Given the description of an element on the screen output the (x, y) to click on. 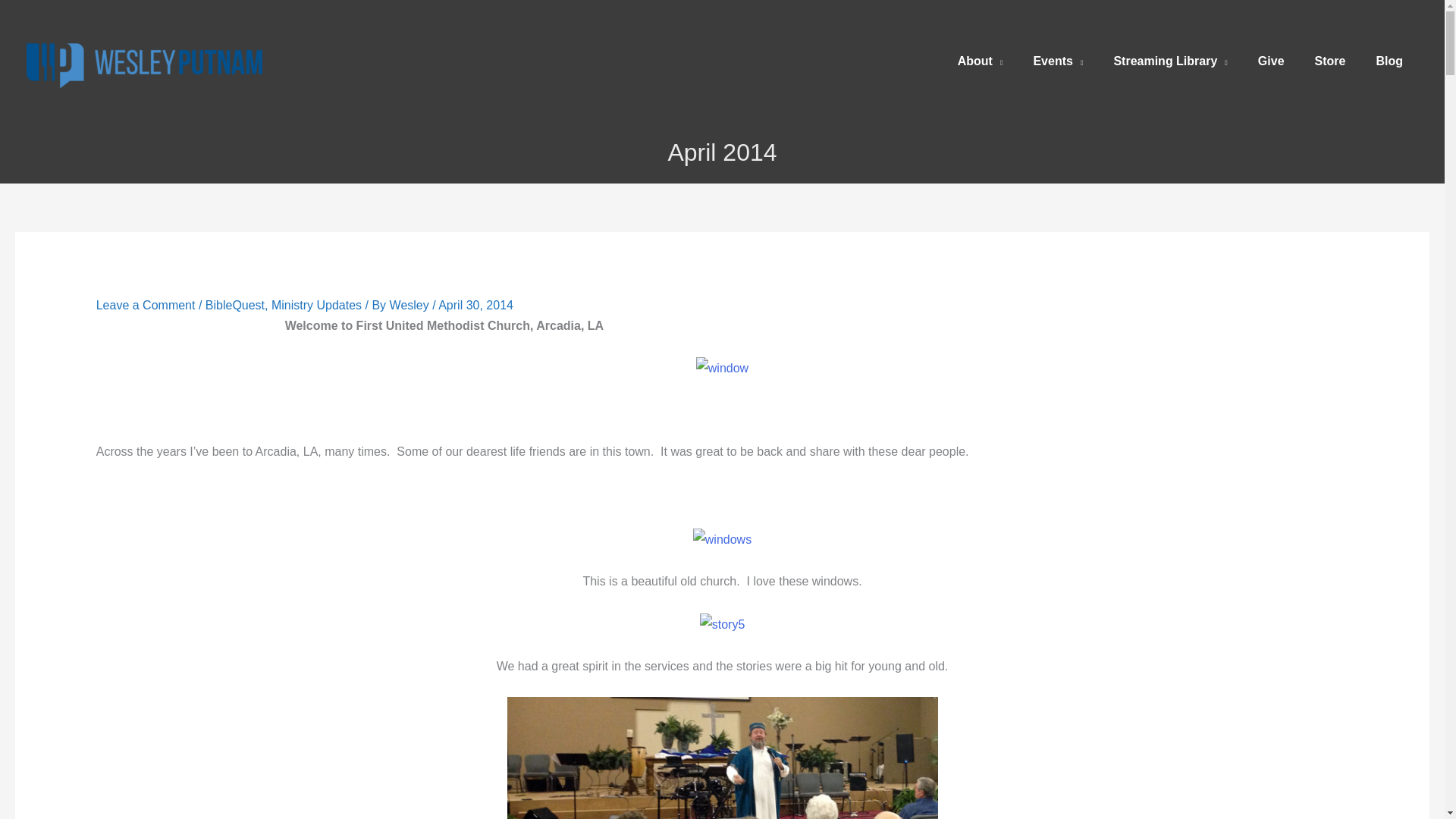
Give (1271, 60)
Wesley (411, 305)
View all posts by Wesley (411, 305)
Blog (1388, 60)
Events (1057, 60)
BibleQuest (234, 305)
Leave a Comment (145, 305)
Store (1330, 60)
About (979, 60)
Ministry Updates (315, 305)
Streaming Library (1169, 60)
